Given the description of an element on the screen output the (x, y) to click on. 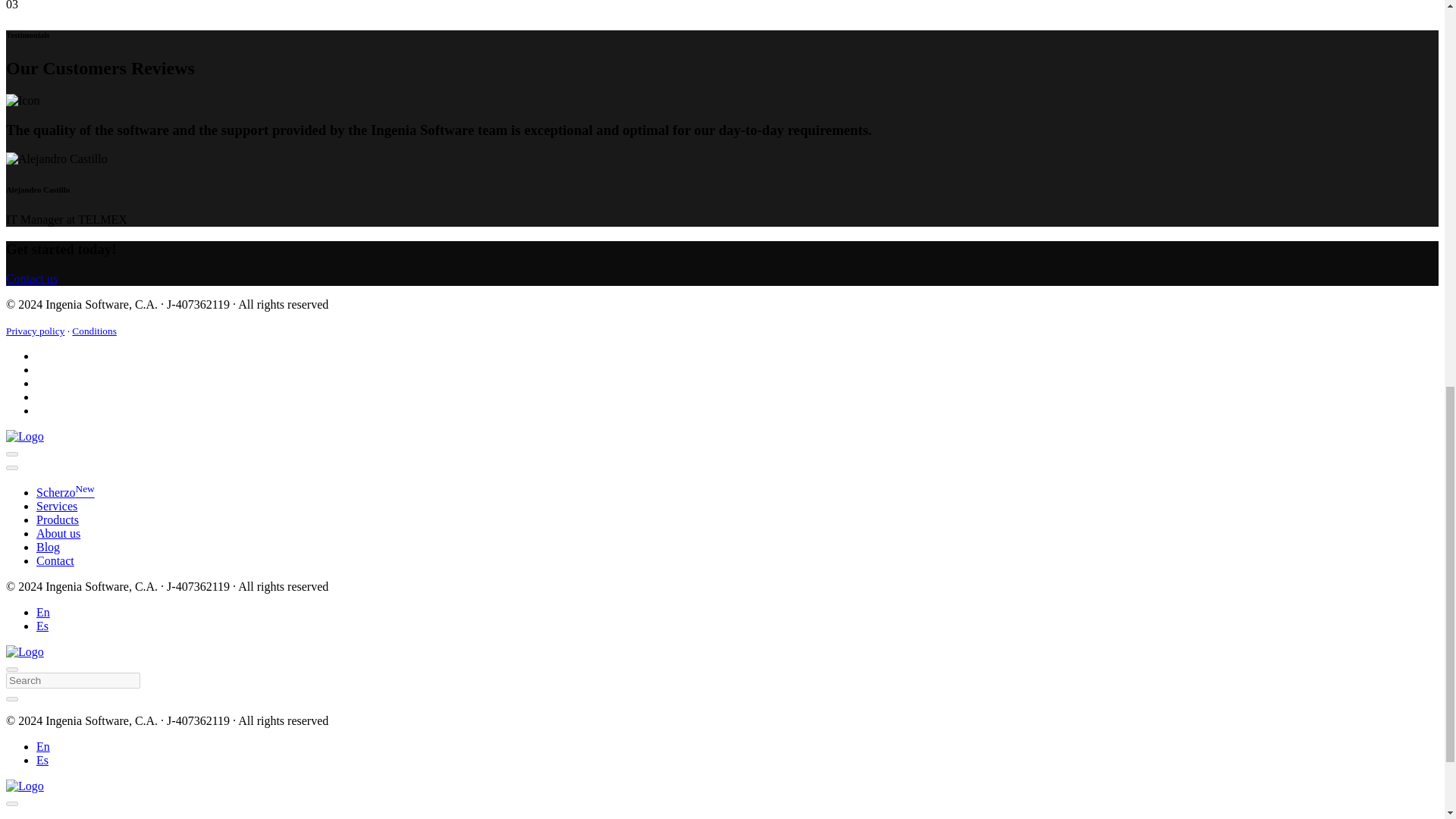
Blog (47, 546)
Products (57, 519)
Contact (55, 560)
Contact (55, 560)
English (42, 612)
Blog (47, 546)
Contact us (31, 278)
About us (58, 533)
About us (58, 533)
En (42, 612)
Scherzo (65, 492)
Products (57, 519)
Services (56, 505)
Services (56, 505)
Logo (24, 436)
